Given the description of an element on the screen output the (x, y) to click on. 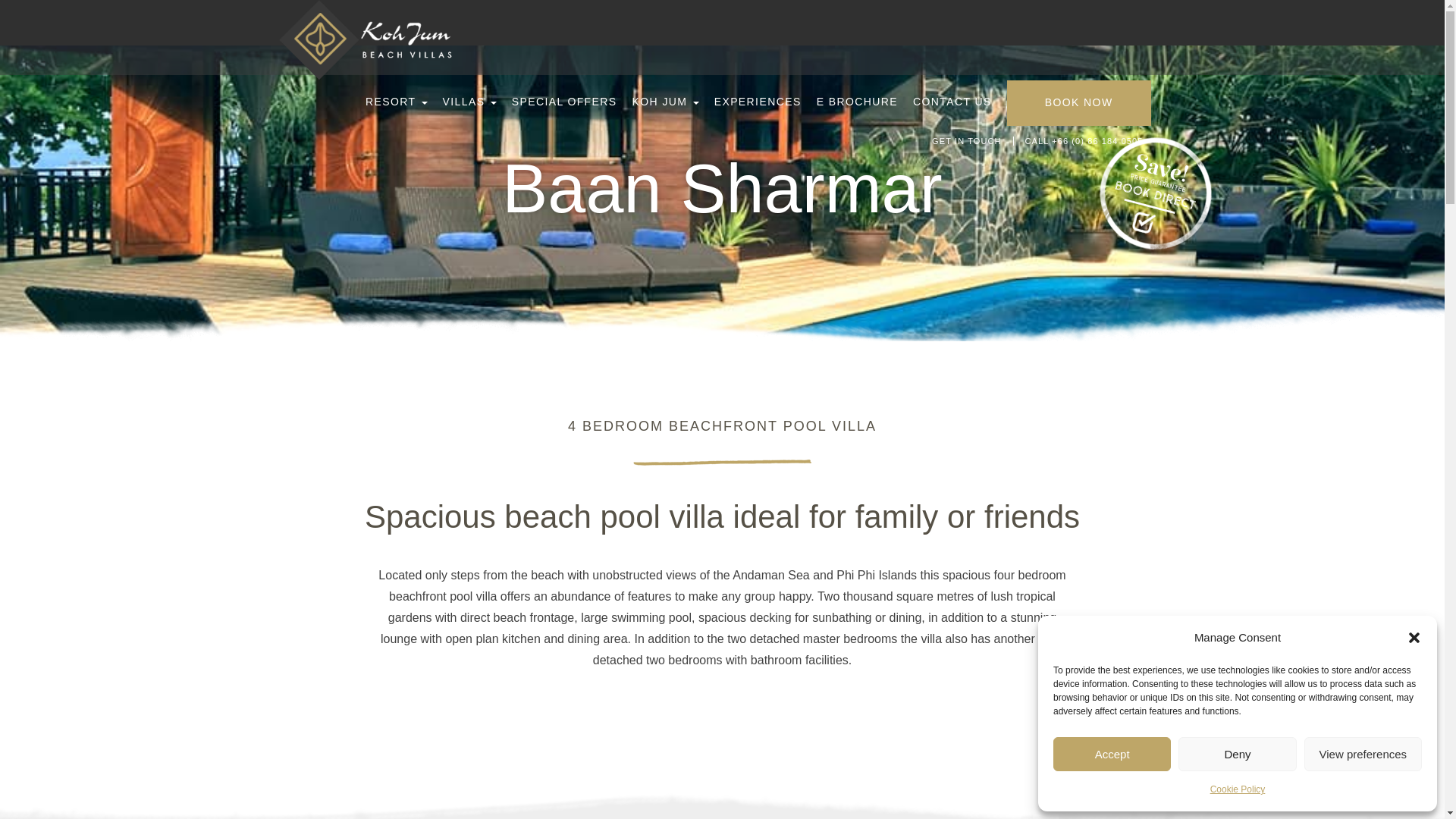
Deny (1236, 754)
VILLAS (469, 102)
Accept (1111, 754)
KOH JUM (664, 102)
View preferences (1363, 754)
Villas (469, 102)
E BROCHURE (857, 102)
Cookie Policy (1237, 789)
SPECIAL OFFERS (564, 102)
CONTACT US (951, 102)
Resort (396, 102)
Special Offers (564, 102)
EXPERIENCES (758, 102)
RESORT (396, 102)
